Given the description of an element on the screen output the (x, y) to click on. 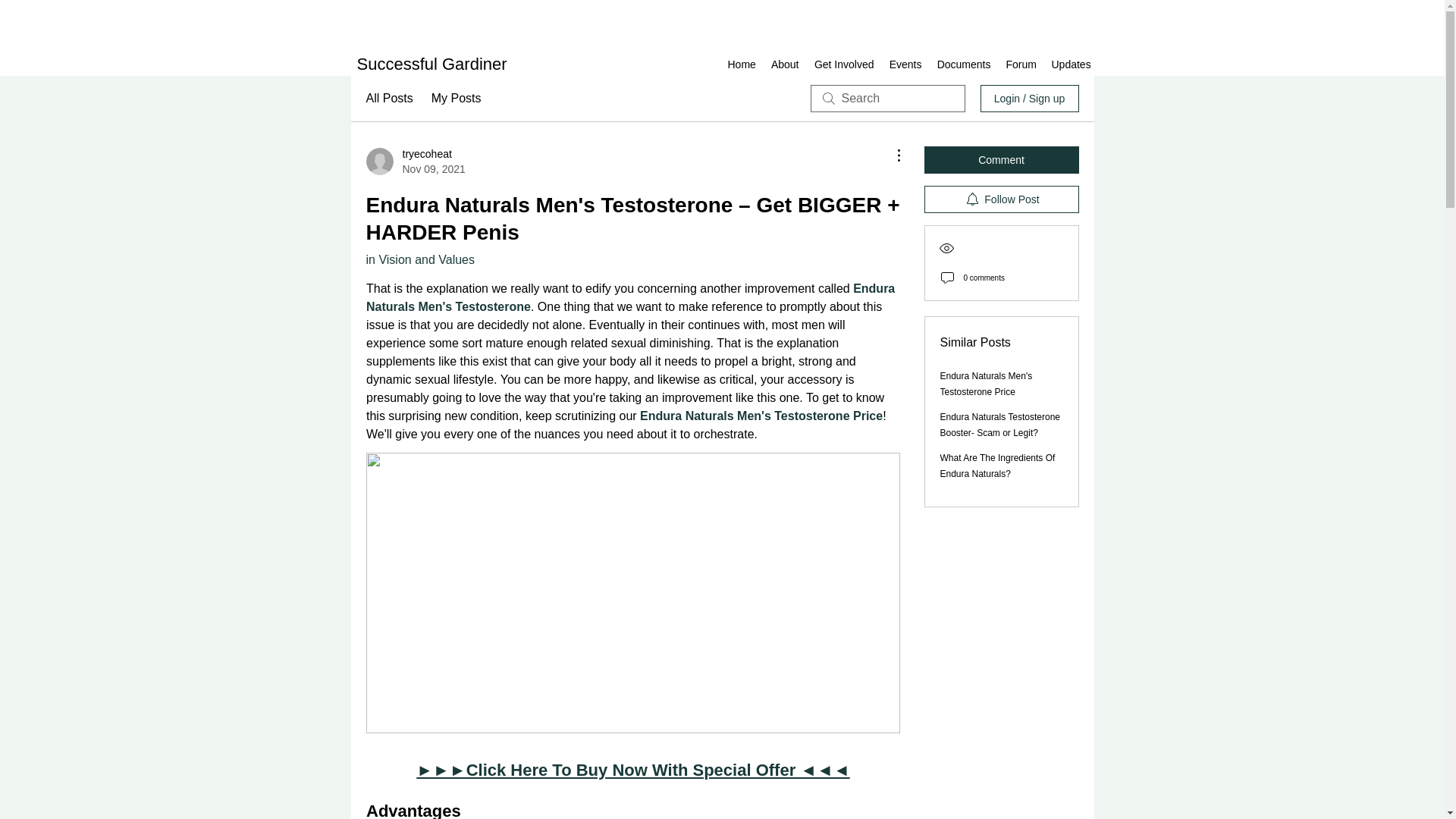
Forum (1020, 64)
Events (904, 64)
Documents (964, 64)
Updates (414, 161)
Home (1070, 64)
Get Involved (741, 64)
Endura Naturals Men's Testosterone Price (844, 64)
About (761, 415)
Successful Gardiner (784, 64)
